Given the description of an element on the screen output the (x, y) to click on. 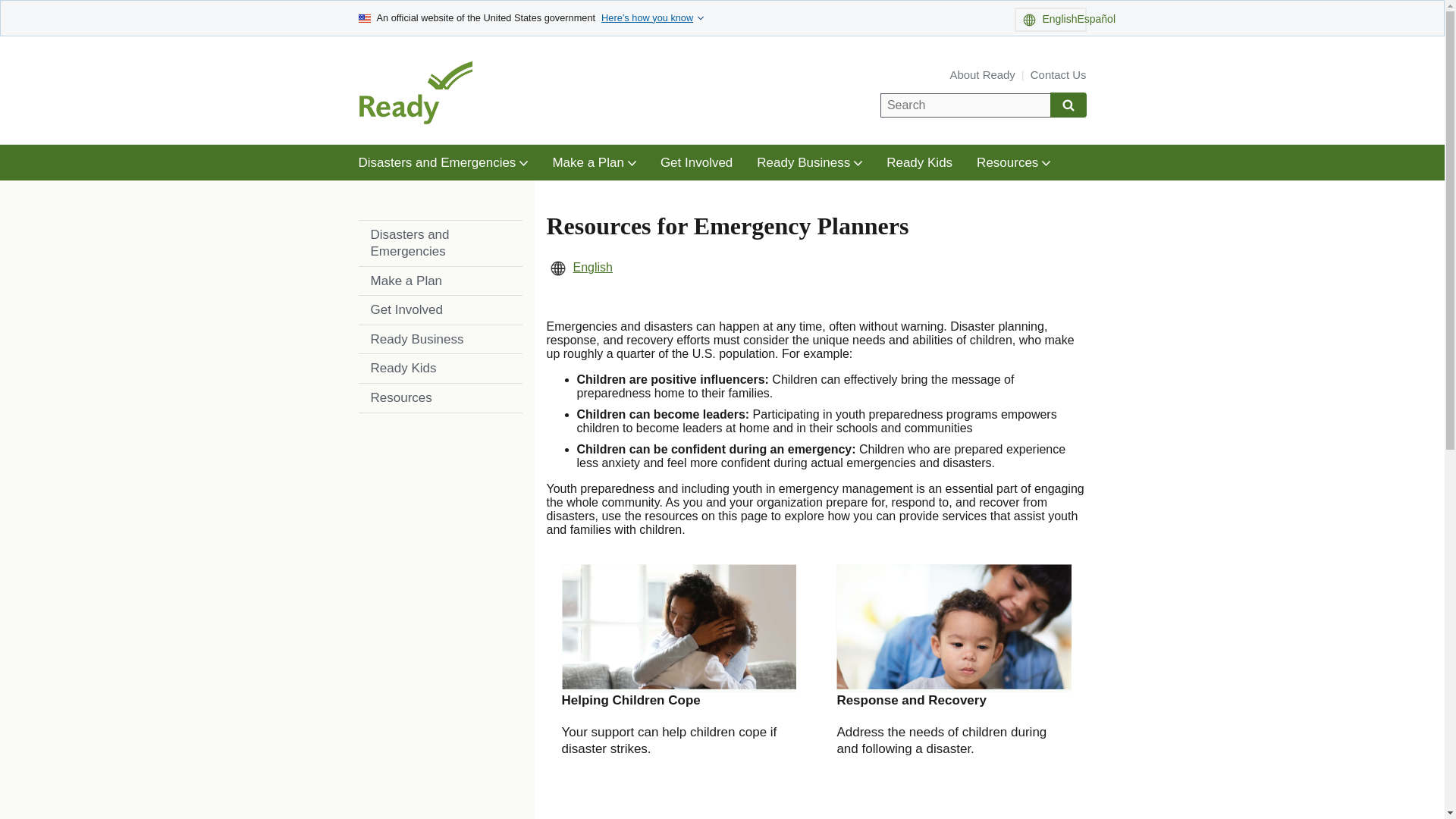
Ready Kids (439, 368)
Search (1067, 104)
Disasters and Emergencies (443, 162)
English (592, 267)
Resources (439, 398)
About Ready (982, 74)
Make a Plan (439, 280)
Contact Us (1058, 74)
Get Involved (695, 162)
Helping Children Cope (630, 699)
